Given the description of an element on the screen output the (x, y) to click on. 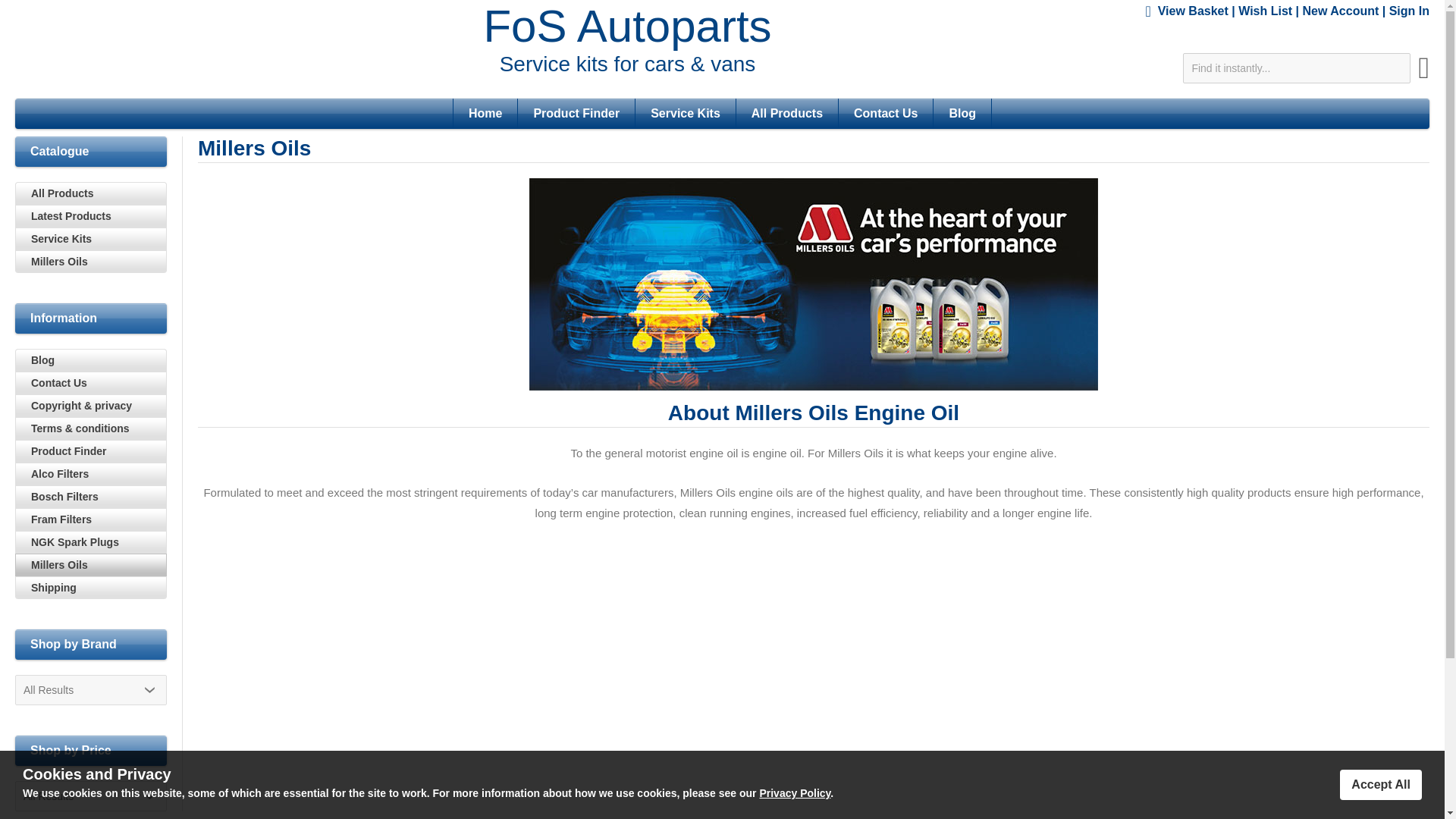
Service Kits (90, 238)
Contact Us (885, 113)
Service Kits (685, 113)
Bosch Filters (90, 496)
Alco Filters (90, 473)
All Products (786, 113)
Blog (962, 113)
All Products (90, 192)
View Basket (1192, 10)
Go (1423, 73)
